Given the description of an element on the screen output the (x, y) to click on. 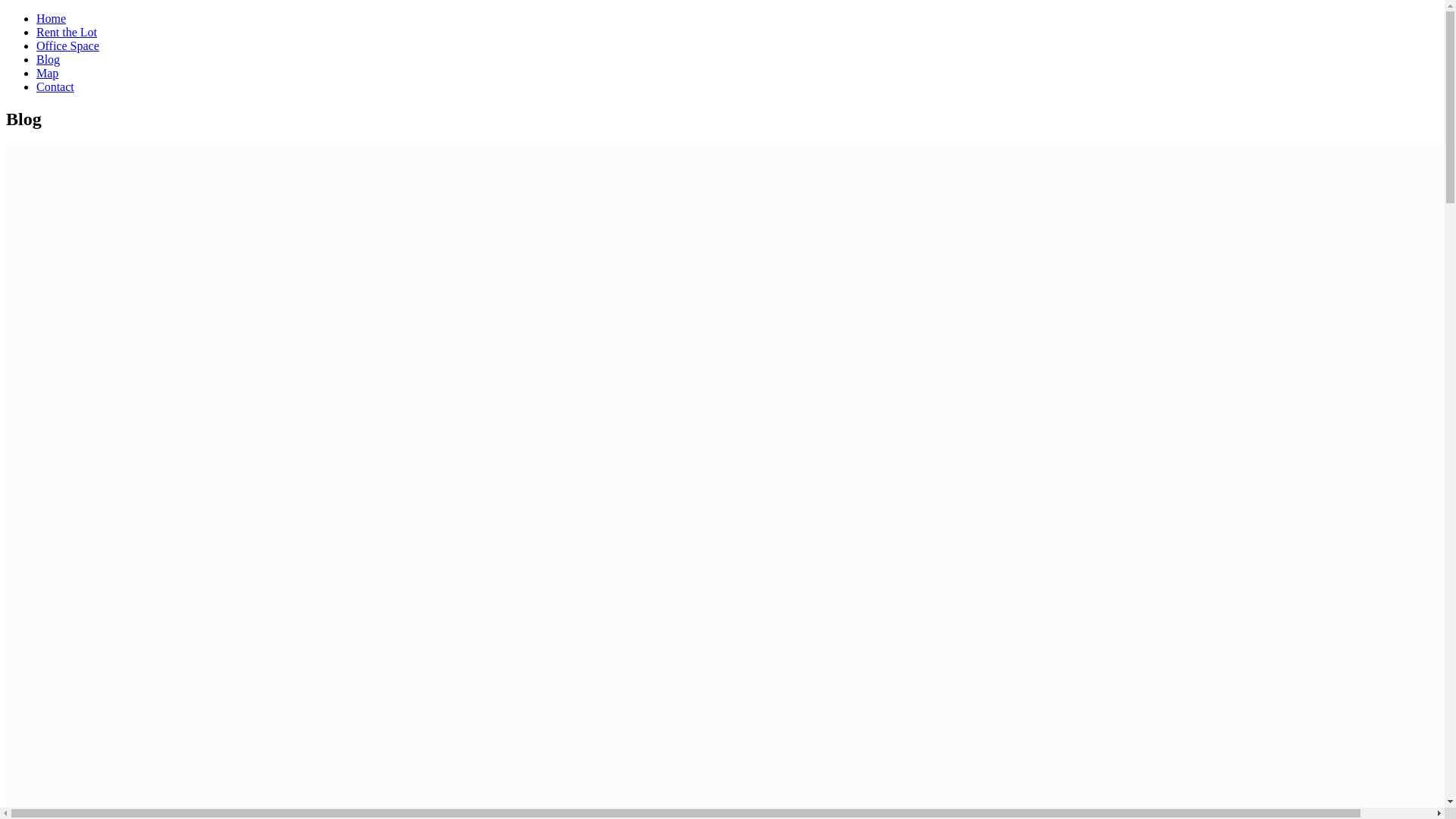
Blog (47, 59)
Contact (55, 86)
Rent the Lot (66, 31)
Home (50, 18)
Office Space (67, 45)
Map (47, 72)
